Given the description of an element on the screen output the (x, y) to click on. 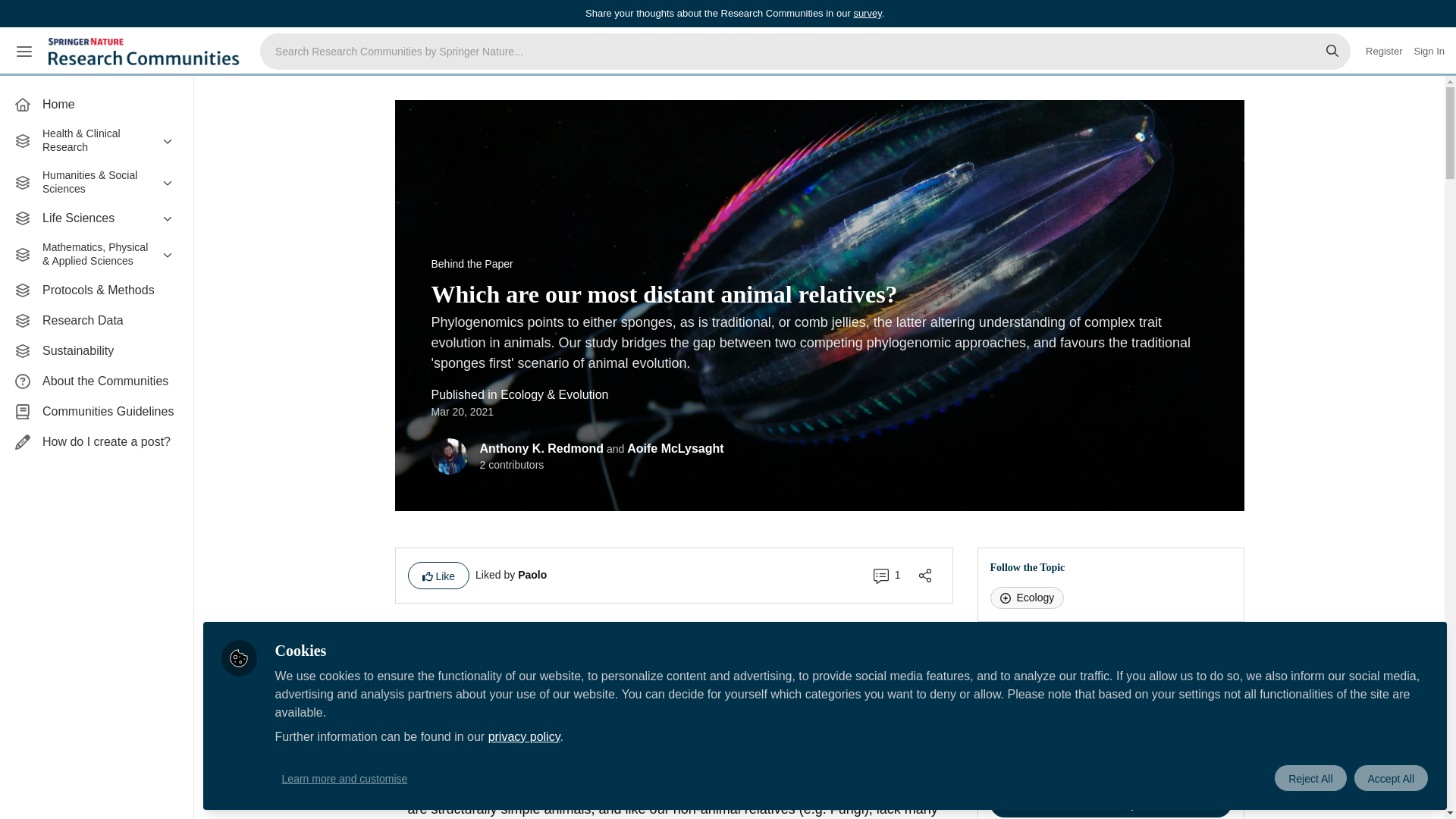
Life Sciences (96, 217)
Life Sciences (96, 217)
Home (96, 103)
Home (96, 103)
Menu (24, 51)
Search (1332, 51)
survey (866, 12)
Research Communities by Springer Nature (146, 51)
